Given the description of an element on the screen output the (x, y) to click on. 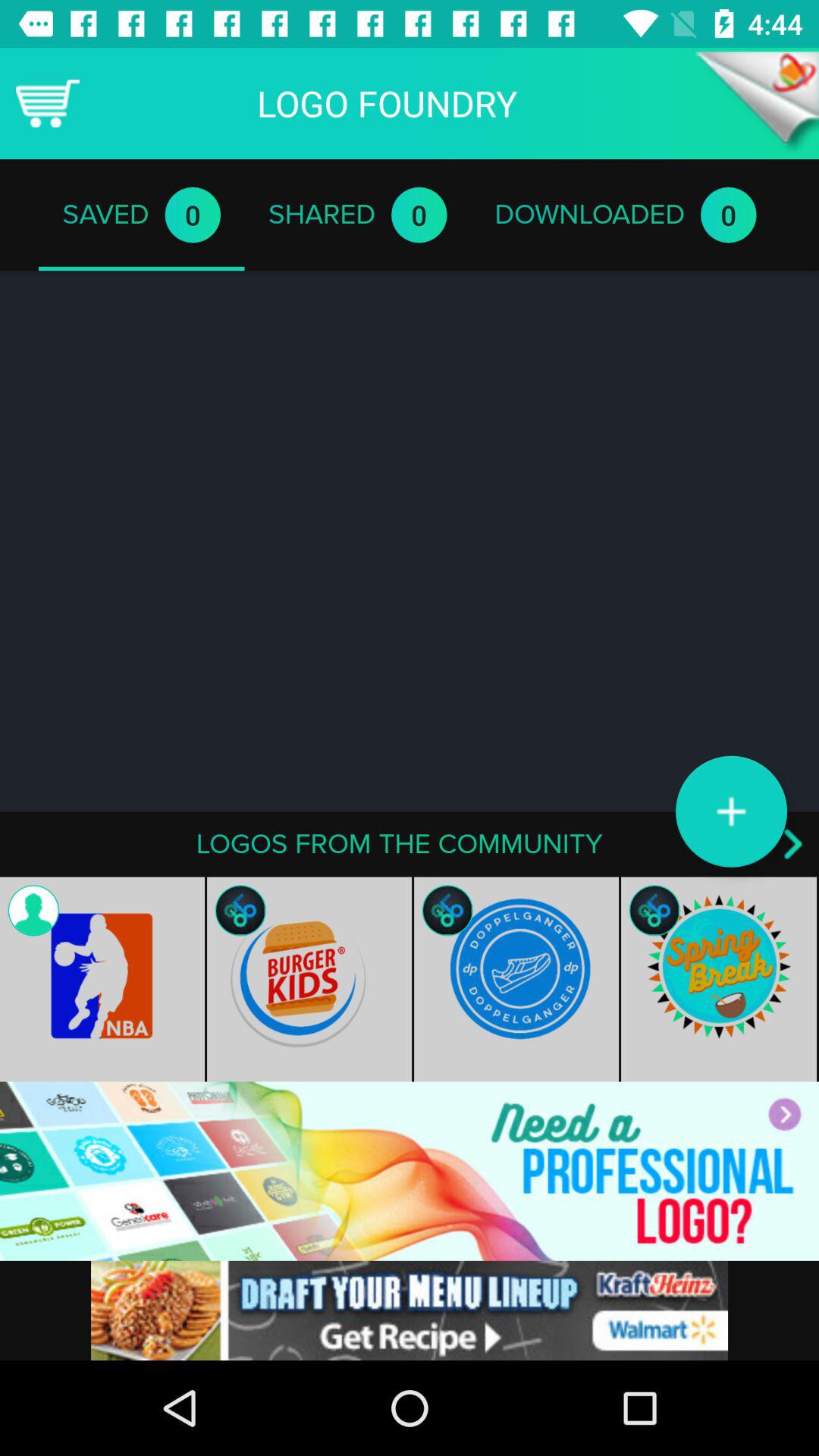
go to back (757, 103)
